Given the description of an element on the screen output the (x, y) to click on. 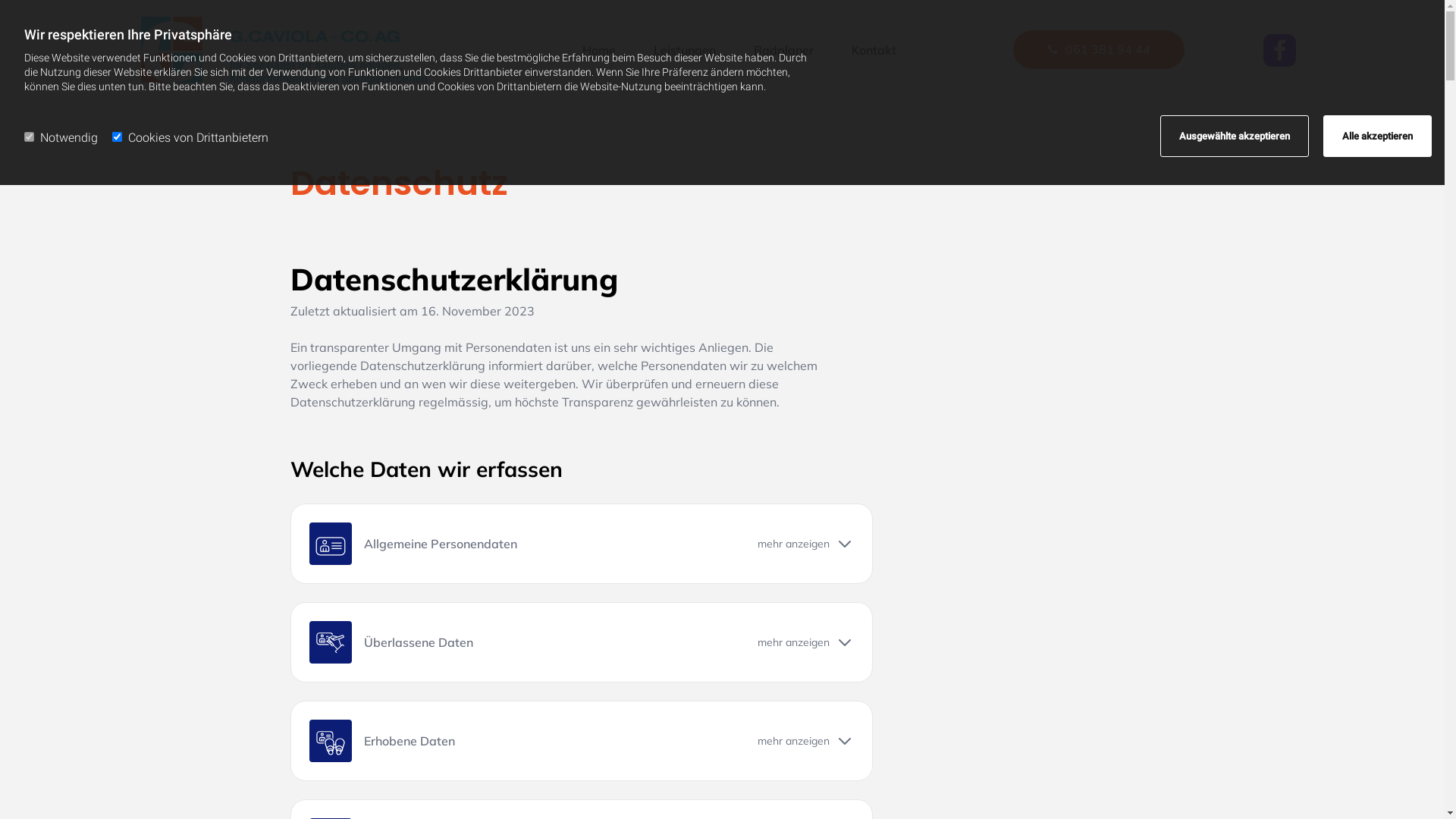
Badplaner Element type: text (783, 50)
Alle akzeptieren Element type: text (1377, 135)
Facebook  Element type: hover (1279, 50)
Kontakt Element type: text (873, 50)
061 381 94 44 Element type: text (1098, 49)
Home Element type: text (598, 50)
Leistungen Element type: text (684, 50)
